Given the description of an element on the screen output the (x, y) to click on. 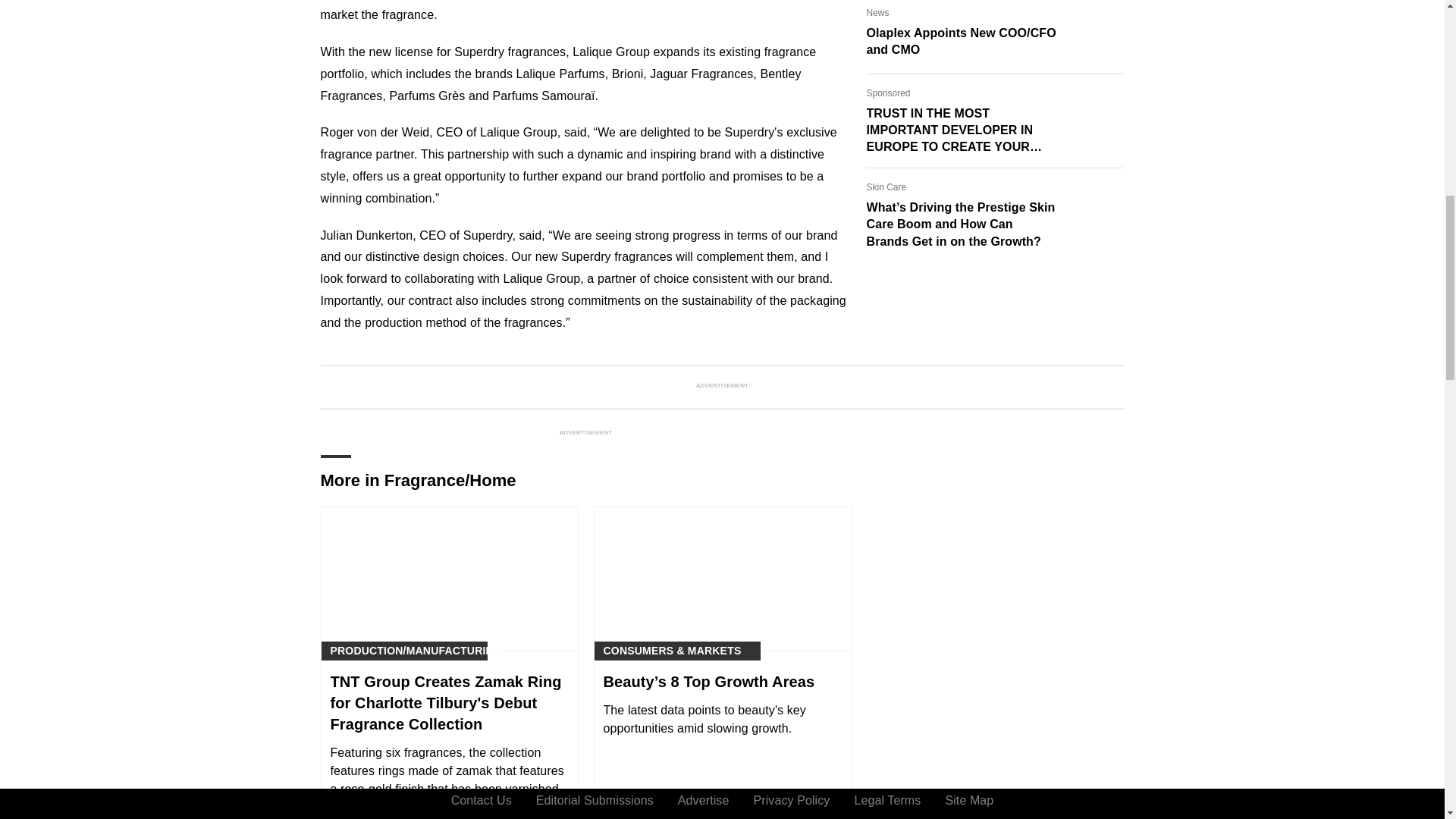
Sponsored (888, 92)
